Given the description of an element on the screen output the (x, y) to click on. 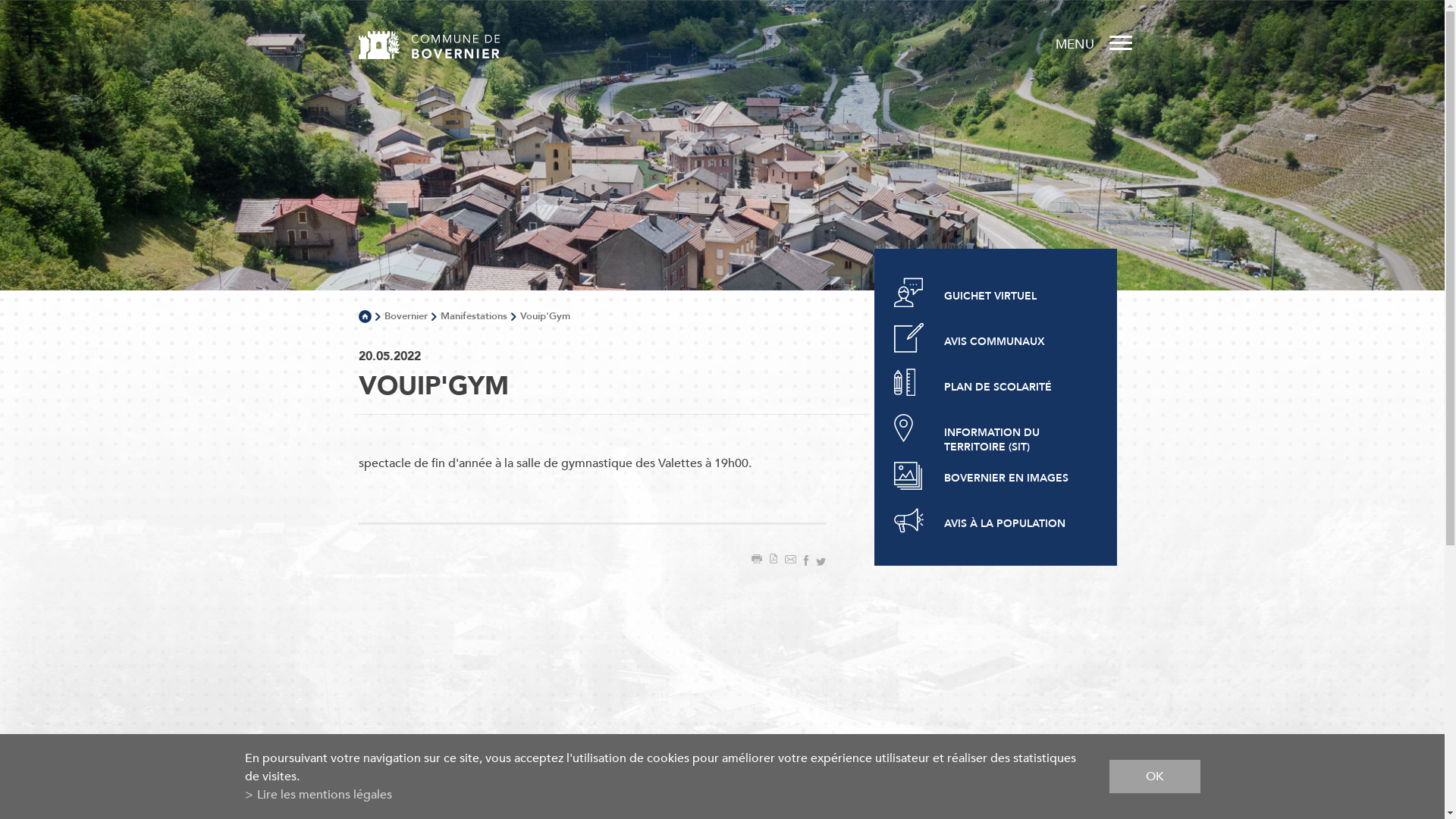
INFORMATION DU TERRITOIRE (SIT) Element type: text (990, 429)
Bovernier Element type: text (404, 316)
BOVERNIER EN IMAGES Element type: text (990, 474)
MENU Element type: text (1093, 45)
GUICHET VIRTUEL Element type: text (990, 292)
OK Element type: text (1153, 776)
Vouip'Gym Element type: text (545, 316)
Manifestations Element type: text (472, 316)
AVIS COMMUNAUX Element type: text (990, 338)
